Given the description of an element on the screen output the (x, y) to click on. 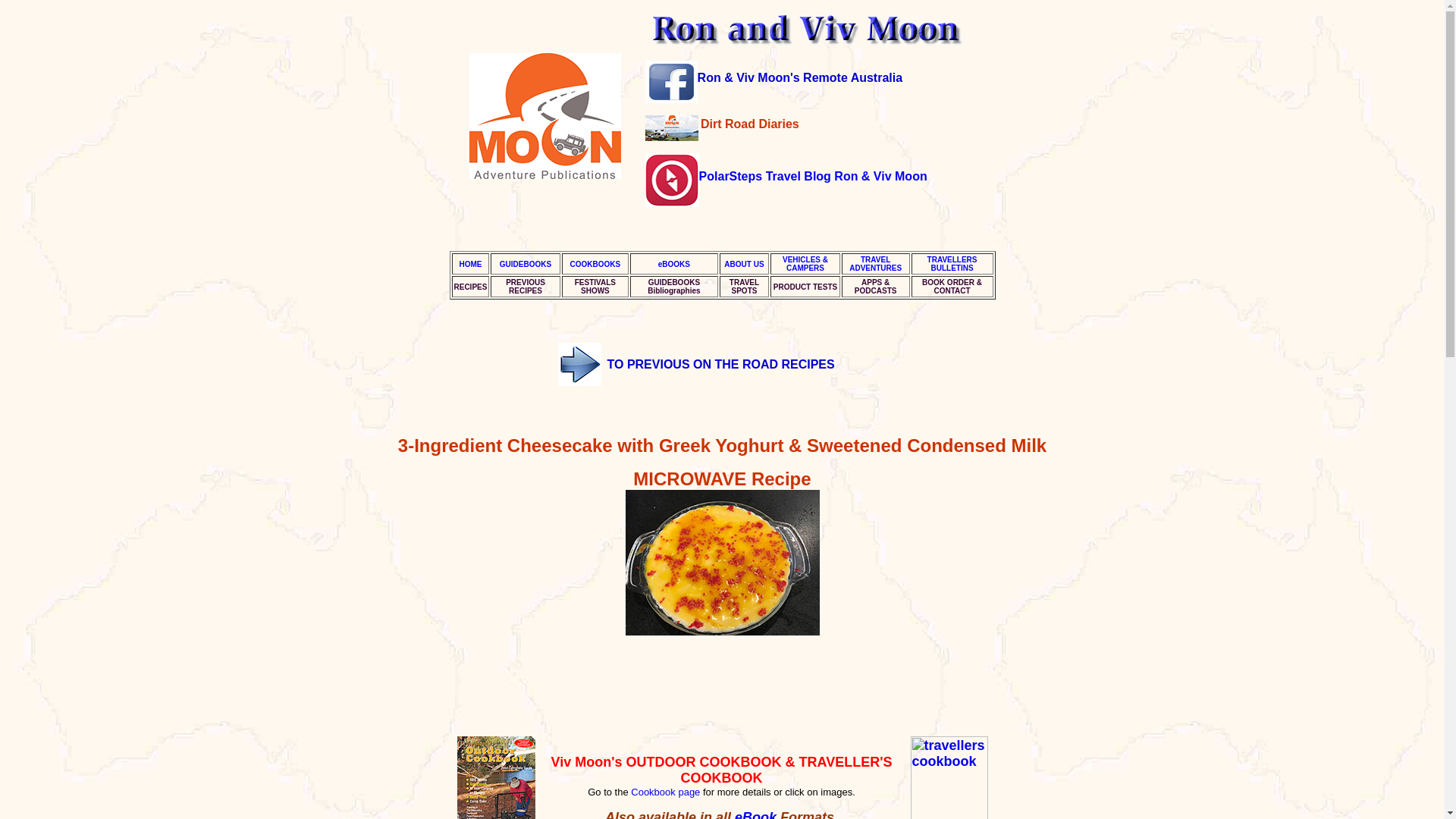
Dirt Road Diaries (749, 123)
ABOUT US (874, 263)
eBOOKS (742, 263)
GUIDEBOOKS Bibliographies (674, 263)
FESTIVALS SHOWS (673, 286)
GUIDEBOOKS (595, 286)
PREVIOUS RECIPES (525, 263)
PRODUCT TESTS (524, 286)
RECIPES (805, 285)
